Given the description of an element on the screen output the (x, y) to click on. 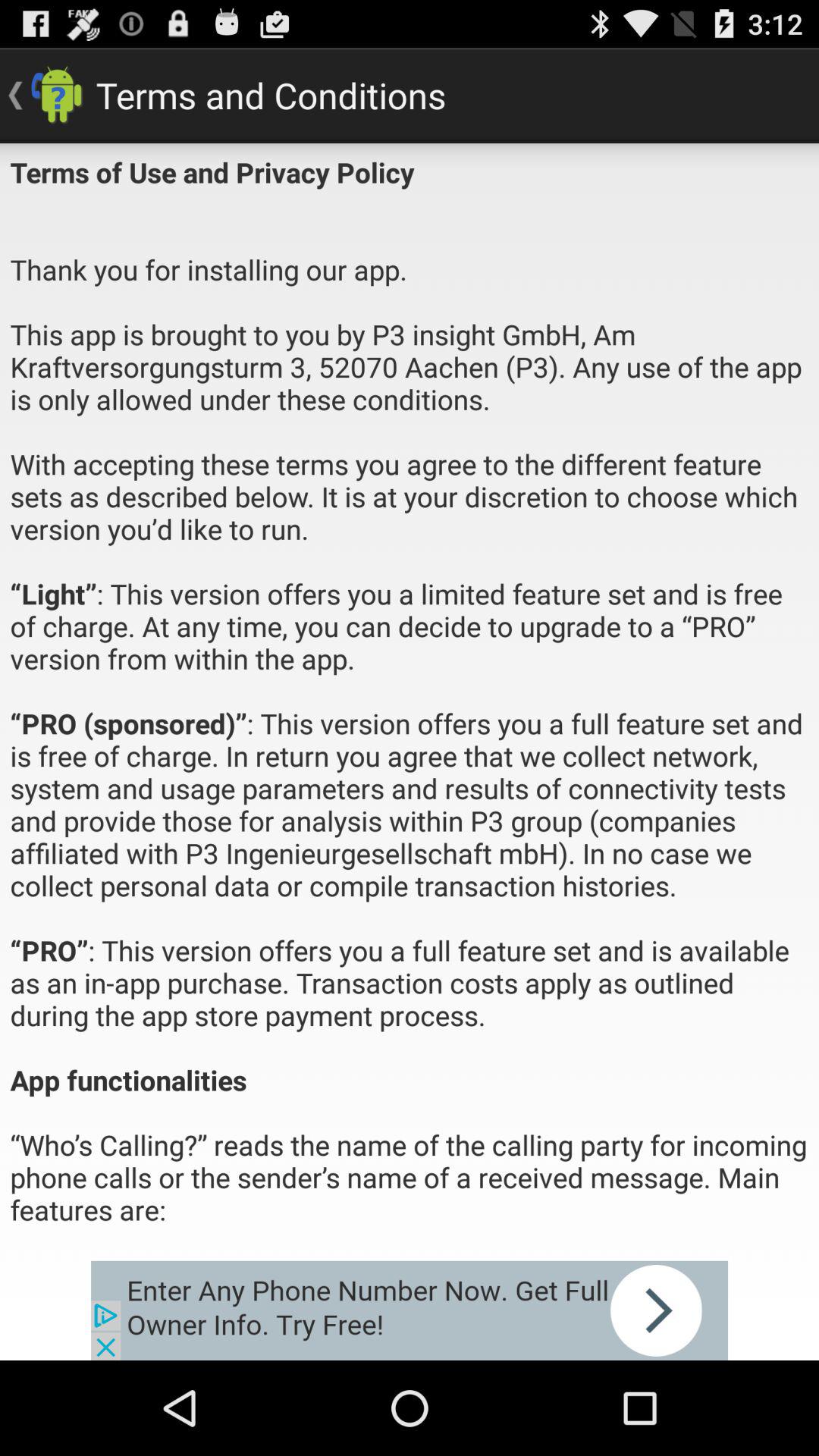
go to advertisement (409, 1310)
